Given the description of an element on the screen output the (x, y) to click on. 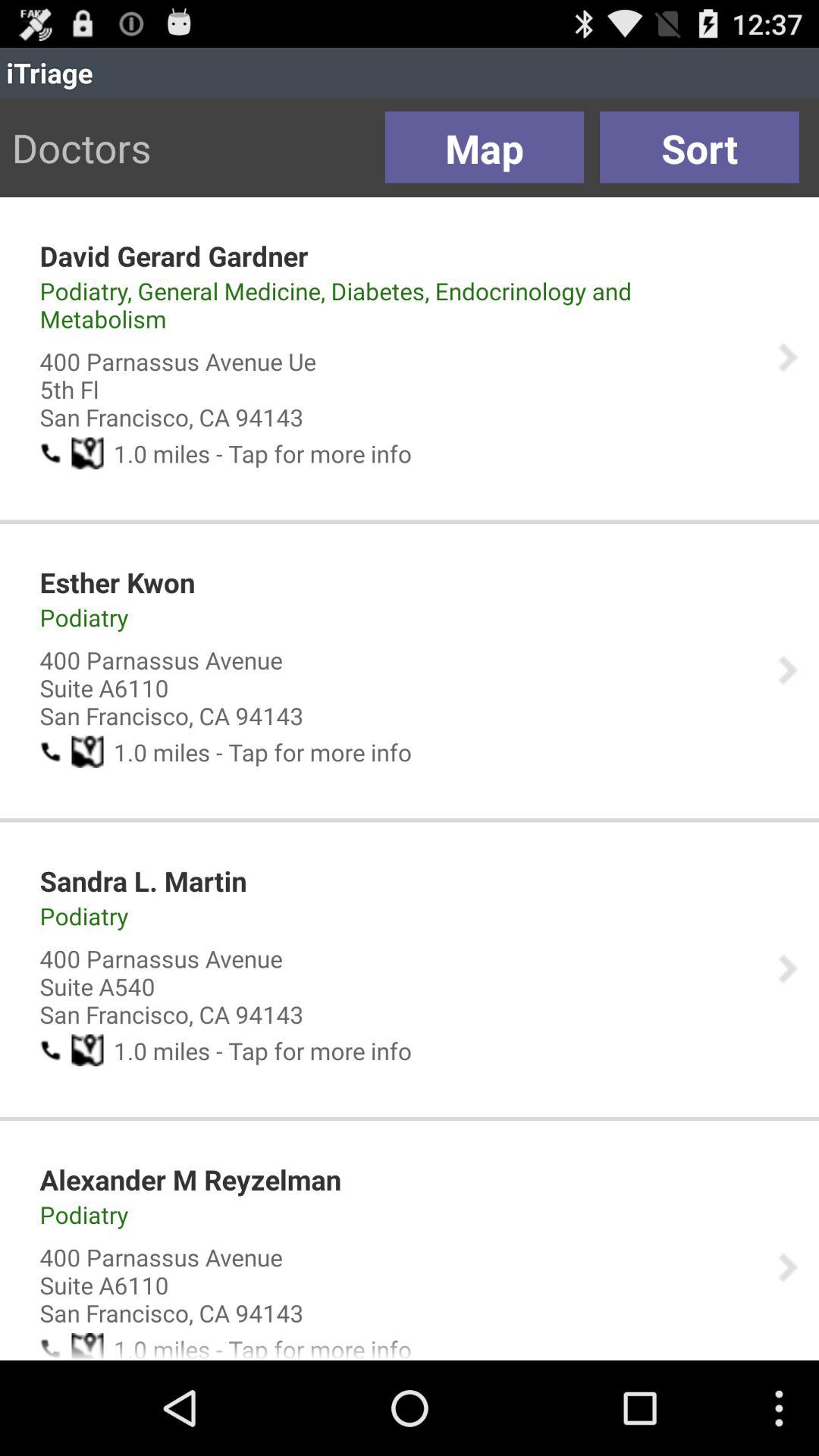
flip until the sort (699, 147)
